Given the description of an element on the screen output the (x, y) to click on. 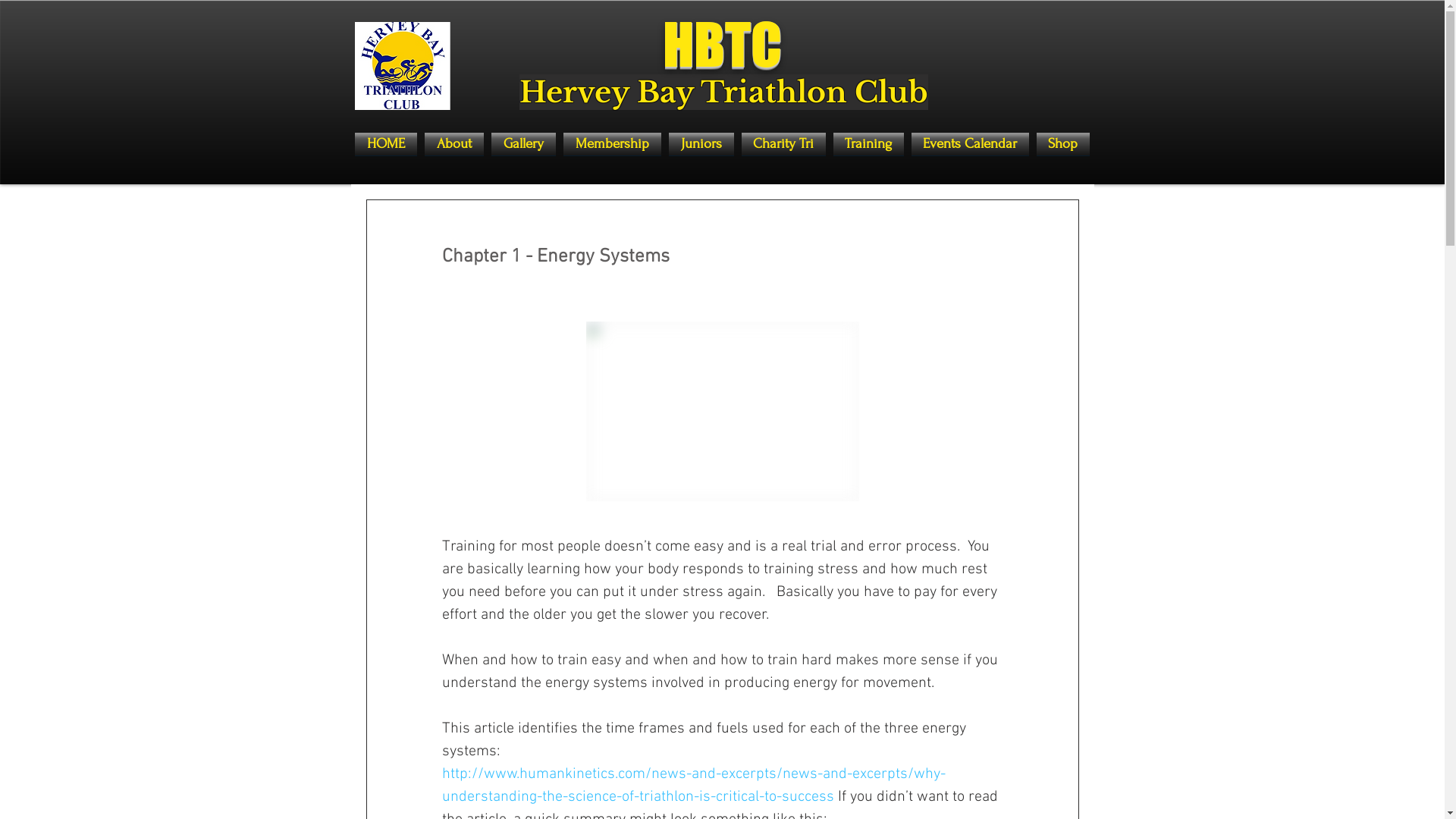
Shop Element type: text (1060, 143)
About Element type: text (453, 143)
Membership Element type: text (612, 143)
HOME Element type: text (387, 143)
Events Calendar Element type: text (969, 143)
Gallery Element type: text (522, 143)
Charity Tri Element type: text (782, 143)
Training Element type: text (868, 143)
Juniors Element type: text (700, 143)
